Given the description of an element on the screen output the (x, y) to click on. 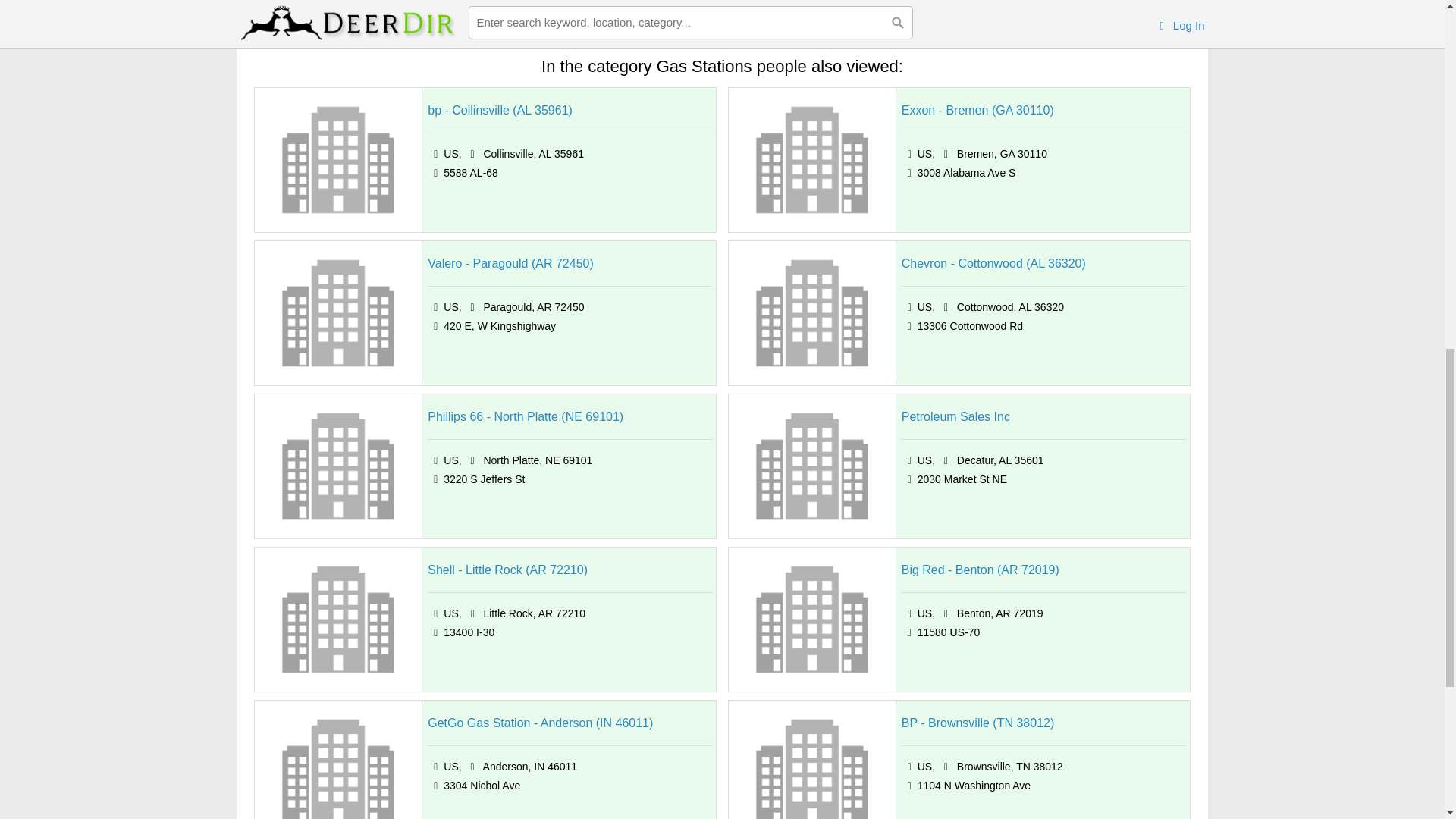
Petroleum Sales Inc (955, 416)
Petroleum Sales Inc (955, 416)
